Given the description of an element on the screen output the (x, y) to click on. 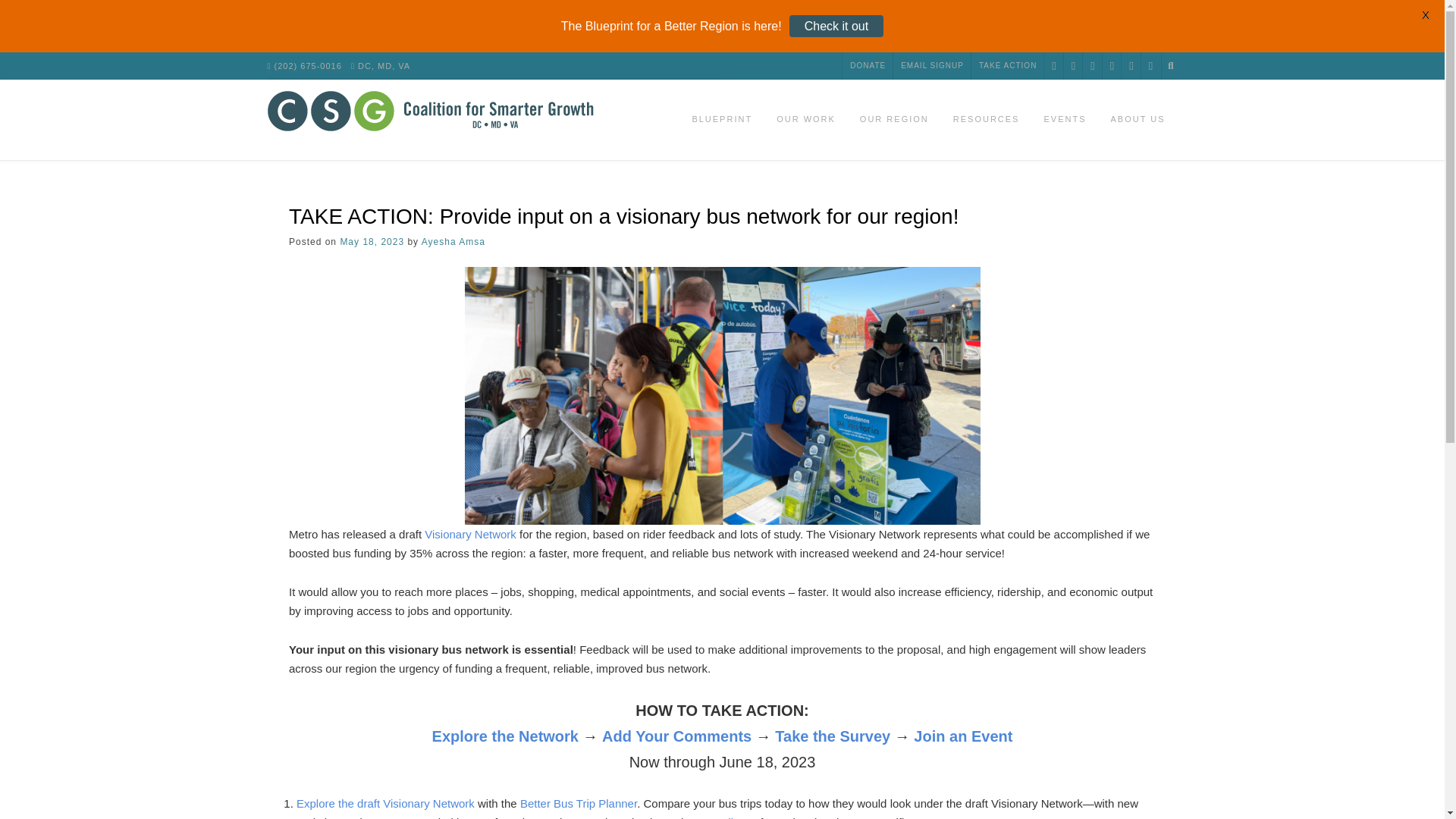
EMAIL SIGNUP (932, 65)
BLUEPRINT (721, 119)
OUR WORK (805, 119)
TAKE ACTION (1007, 65)
DONATE (868, 65)
